Given the description of an element on the screen output the (x, y) to click on. 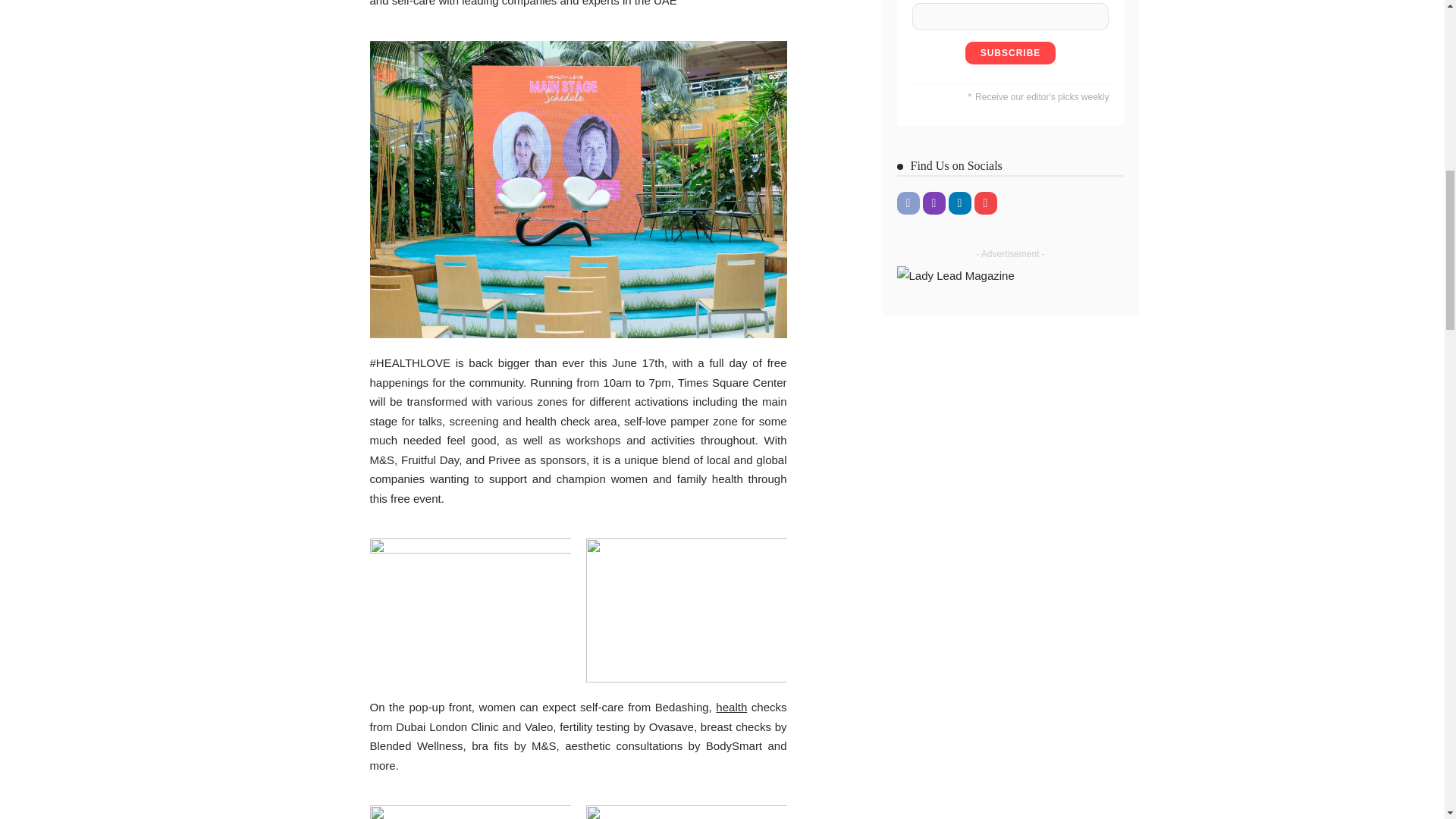
Subscribe (1011, 52)
